Given the description of an element on the screen output the (x, y) to click on. 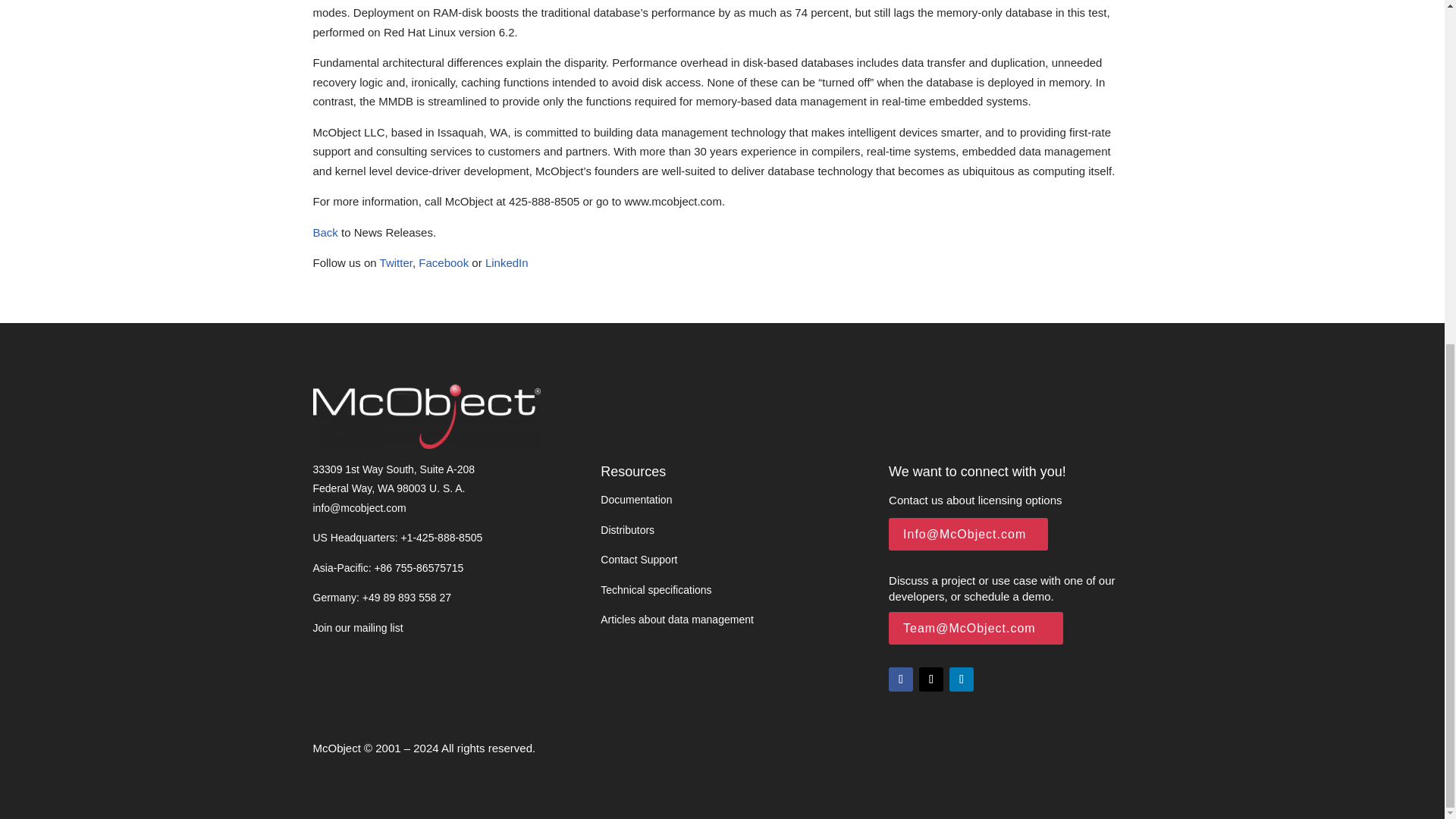
Follow on Facebook (900, 679)
Follow on X (930, 679)
Follow on LinkedIn (961, 679)
McObject logo white 11-21 (426, 416)
